Given the description of an element on the screen output the (x, y) to click on. 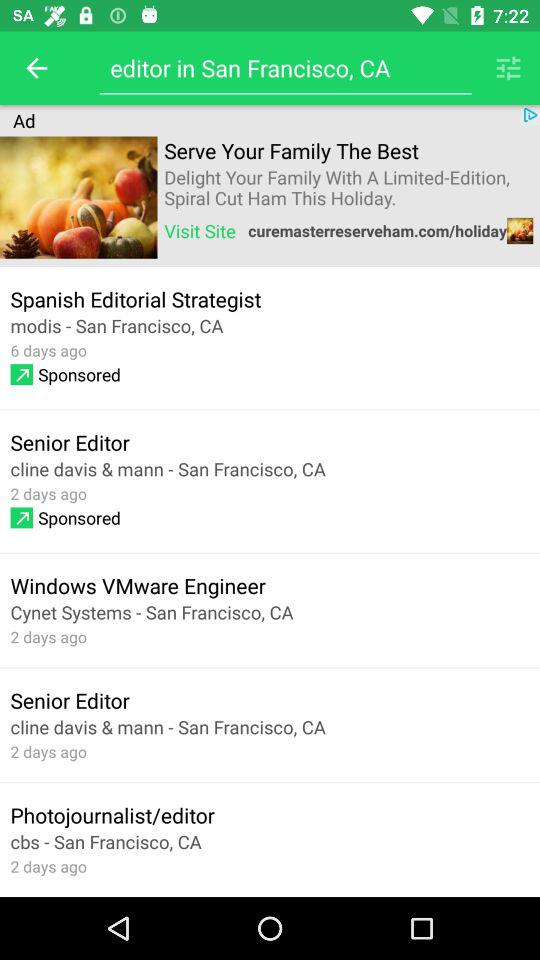
go to previous page (36, 68)
